Given the description of an element on the screen output the (x, y) to click on. 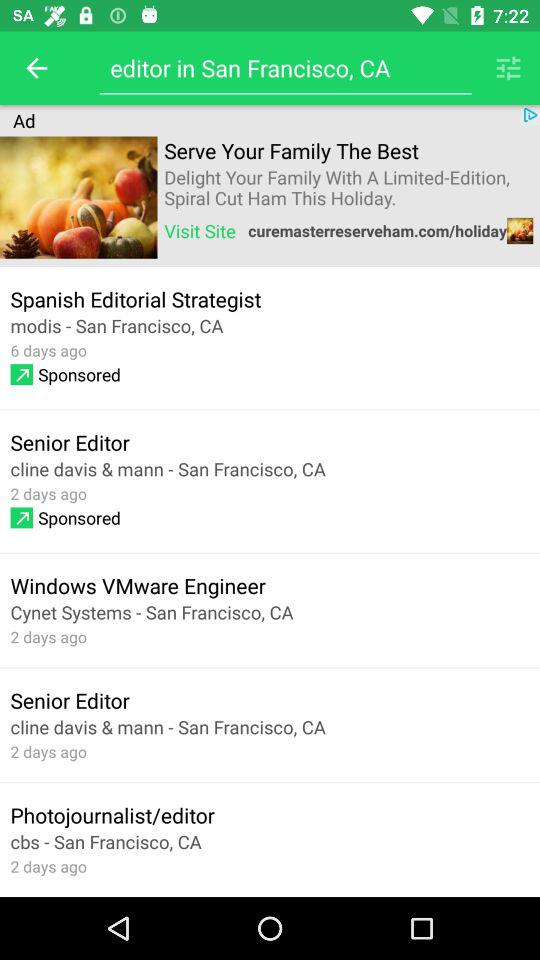
go to previous page (36, 68)
